Given the description of an element on the screen output the (x, y) to click on. 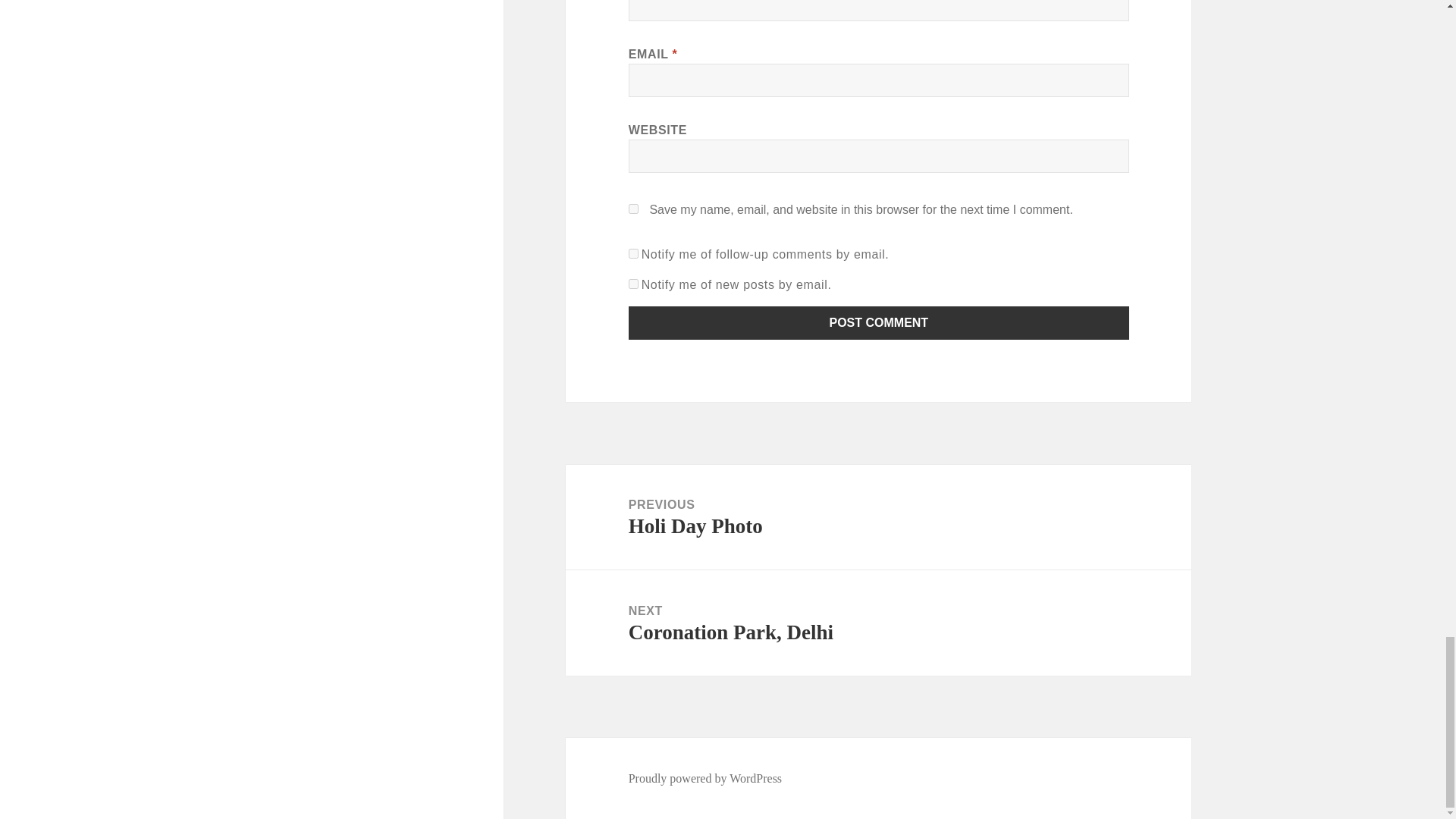
Post Comment (878, 322)
Proudly powered by WordPress (704, 778)
yes (633, 208)
subscribe (878, 622)
subscribe (633, 253)
Post Comment (633, 284)
